Given the description of an element on the screen output the (x, y) to click on. 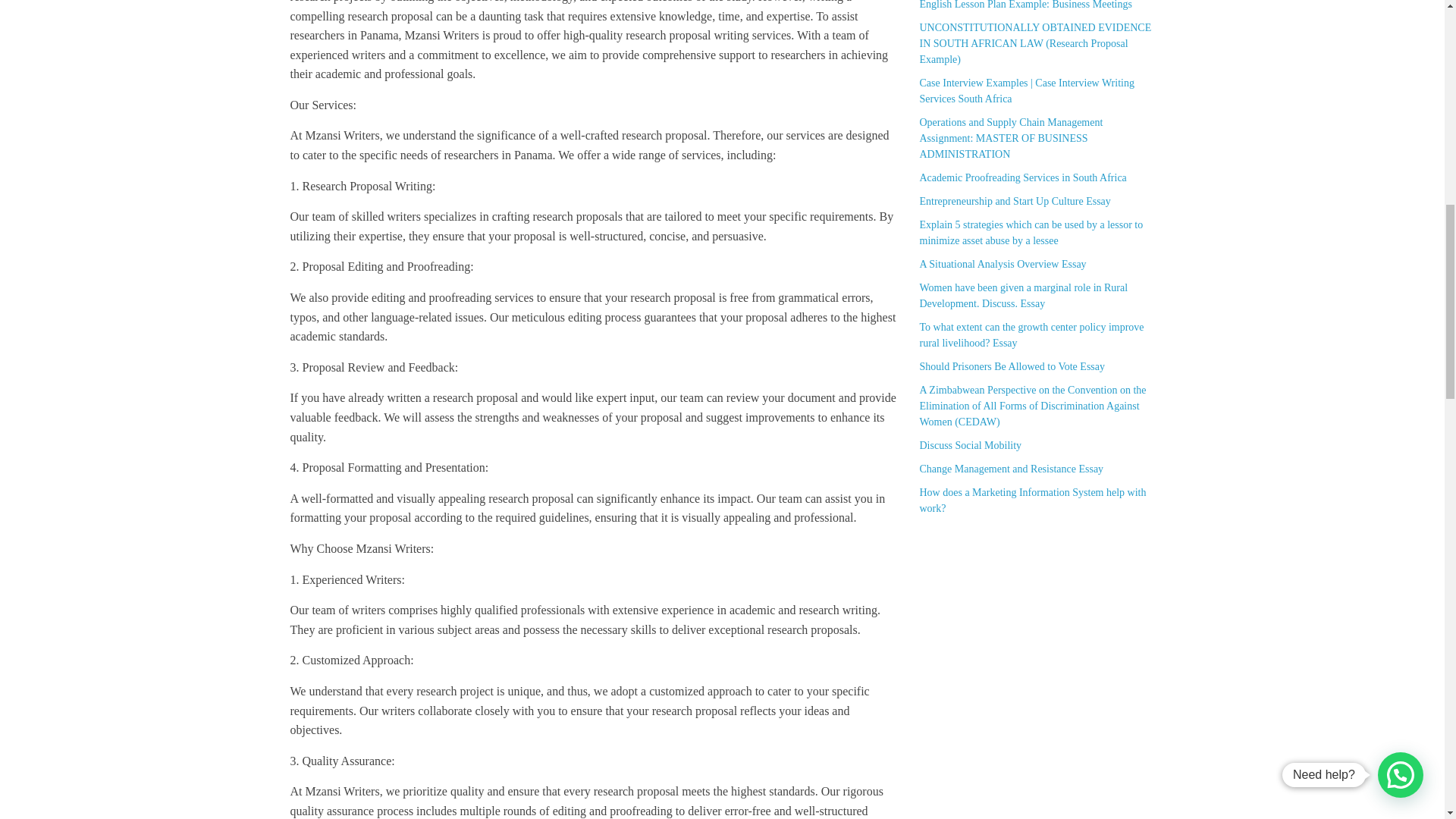
English Lesson Plan Example: Business Meetings (1024, 4)
